Given the description of an element on the screen output the (x, y) to click on. 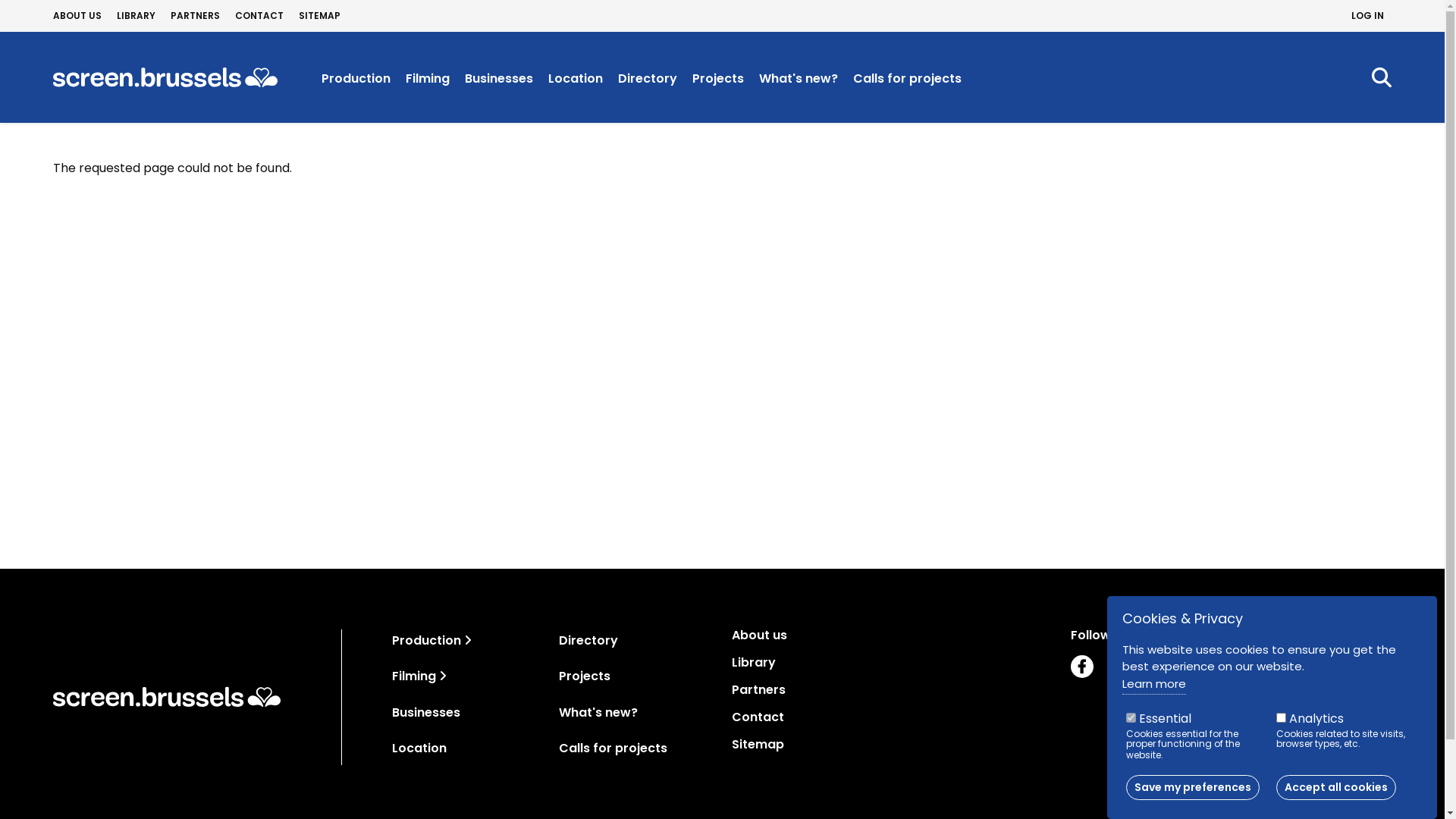
Filming Element type: text (427, 78)
Contact Element type: text (891, 717)
SITEMAP Element type: text (319, 15)
Facebook Element type: text (1081, 666)
ABOUT US Element type: text (77, 15)
Accept all cookies Element type: text (1335, 787)
Location Element type: text (419, 747)
Filming Element type: text (414, 675)
What's new? Element type: text (798, 78)
Home Element type: hover (166, 696)
Home Element type: hover (165, 77)
CONTACT Element type: text (259, 15)
Ouvrir la sous-navigation Element type: text (467, 639)
Library Element type: text (891, 662)
Location Element type: text (575, 78)
Partners Element type: text (891, 690)
Learn more Element type: text (1154, 684)
Projects Element type: text (717, 78)
Businesses Element type: text (498, 78)
Sitemap Element type: text (891, 744)
Twitter Element type: text (1119, 666)
LOG IN Element type: text (1367, 15)
PARTNERS Element type: text (194, 15)
Directory Element type: text (588, 647)
About us Element type: text (891, 635)
Production Element type: text (355, 78)
Instagram Element type: text (1195, 666)
Calls for projects Element type: text (612, 755)
Directory Element type: text (647, 78)
Withdraw consent Element type: text (1402, 777)
Vimeo Element type: text (1271, 666)
Projects Element type: text (584, 683)
Ouvrir la sous-navigation Element type: text (442, 675)
Businesses Element type: text (426, 712)
What's new? Element type: text (597, 719)
Save my preferences Element type: text (1192, 787)
Calls for projects Element type: text (907, 78)
Youtube Element type: text (1233, 666)
Production Element type: text (426, 640)
LinkedIn Element type: text (1157, 666)
LIBRARY Element type: text (135, 15)
